Given the description of an element on the screen output the (x, y) to click on. 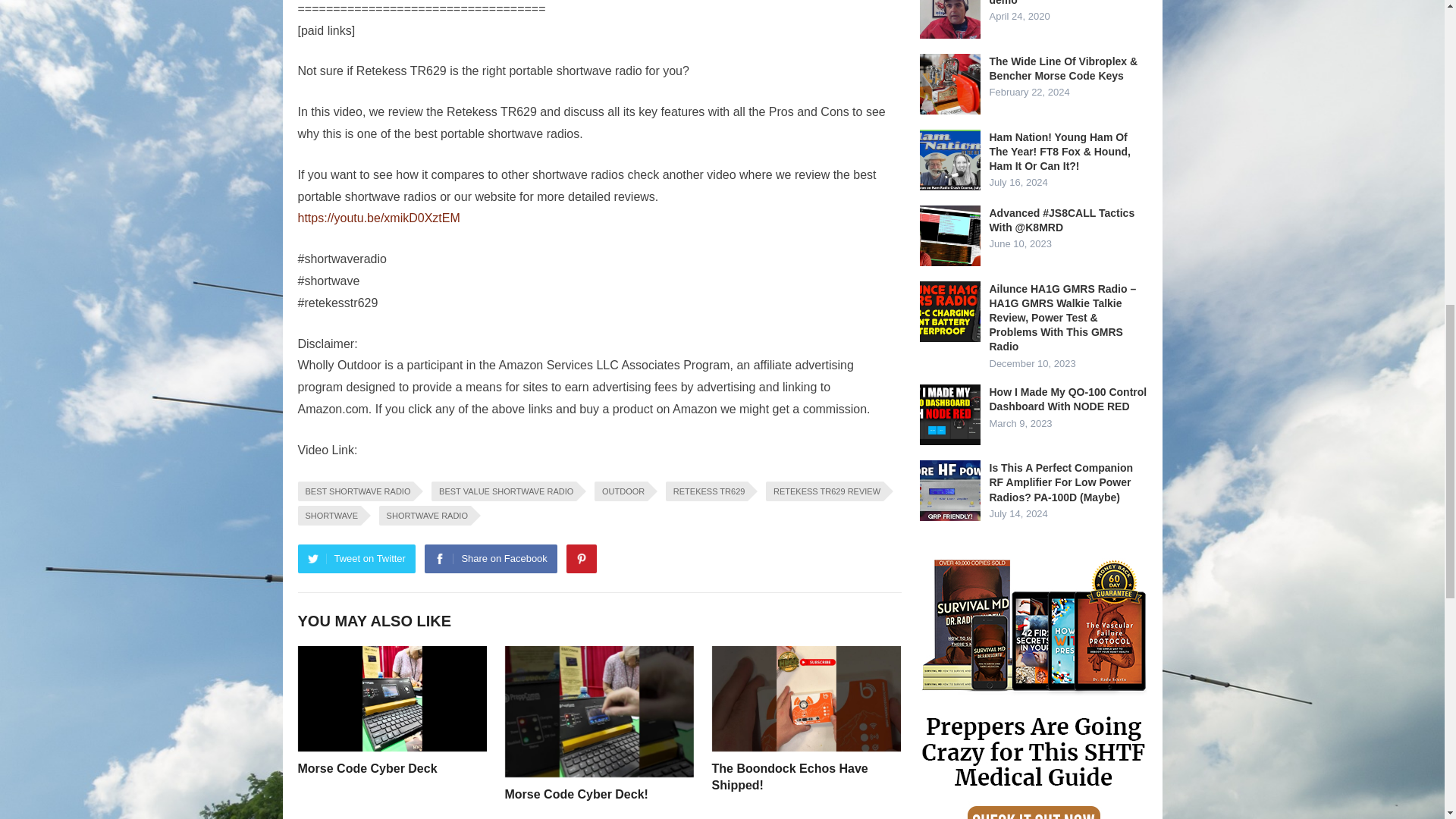
Morse Code Cyber Deck! 4 (599, 711)
Share on Facebook (490, 558)
OUTDOOR (620, 491)
BEST SHORTWAVE RADIO (355, 491)
Pinterest (581, 558)
The Boondock Echos Have Shipped! 6 (805, 698)
SHORTWAVE (328, 515)
RETEKESS TR629 (706, 491)
BEST VALUE SHORTWAVE RADIO (503, 491)
RETEKESS TR629 REVIEW (824, 491)
